Given the description of an element on the screen output the (x, y) to click on. 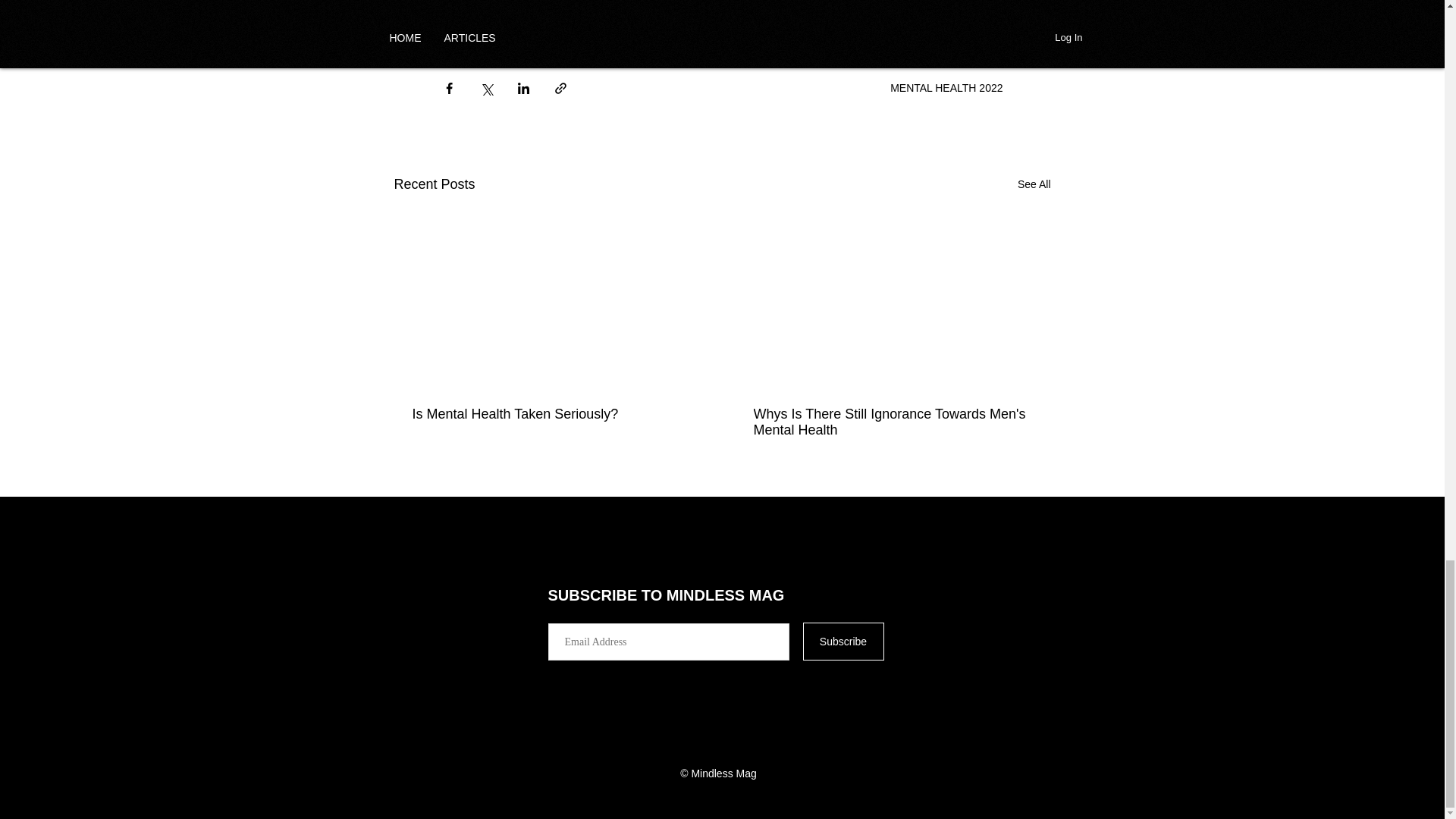
covid-19 (805, 29)
mental health (482, 29)
See All (1034, 184)
Whys Is There Still Ignorance Towards Men's Mental Health (893, 422)
Subscribe (842, 641)
Is Mental Health Taken Seriously? (551, 414)
MENTAL HEALTH 2022 (946, 87)
positivity (678, 29)
support (742, 29)
sustainable change (587, 29)
simple steps (882, 29)
